Given the description of an element on the screen output the (x, y) to click on. 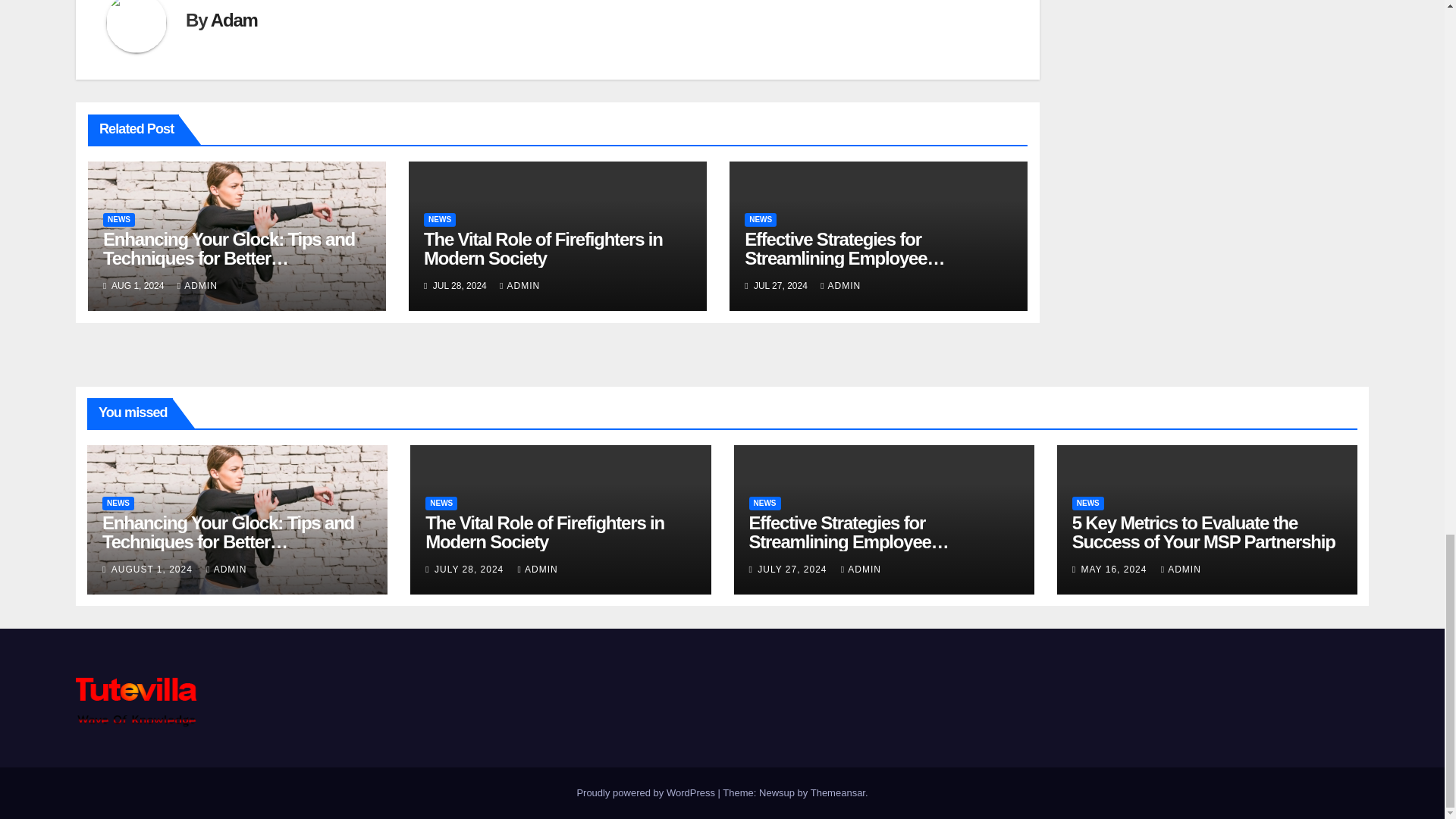
ADMIN (519, 285)
ADMIN (196, 285)
The Vital Role of Firefighters in Modern Society (542, 248)
NEWS (119, 219)
Adam (234, 19)
NEWS (439, 219)
